Given the description of an element on the screen output the (x, y) to click on. 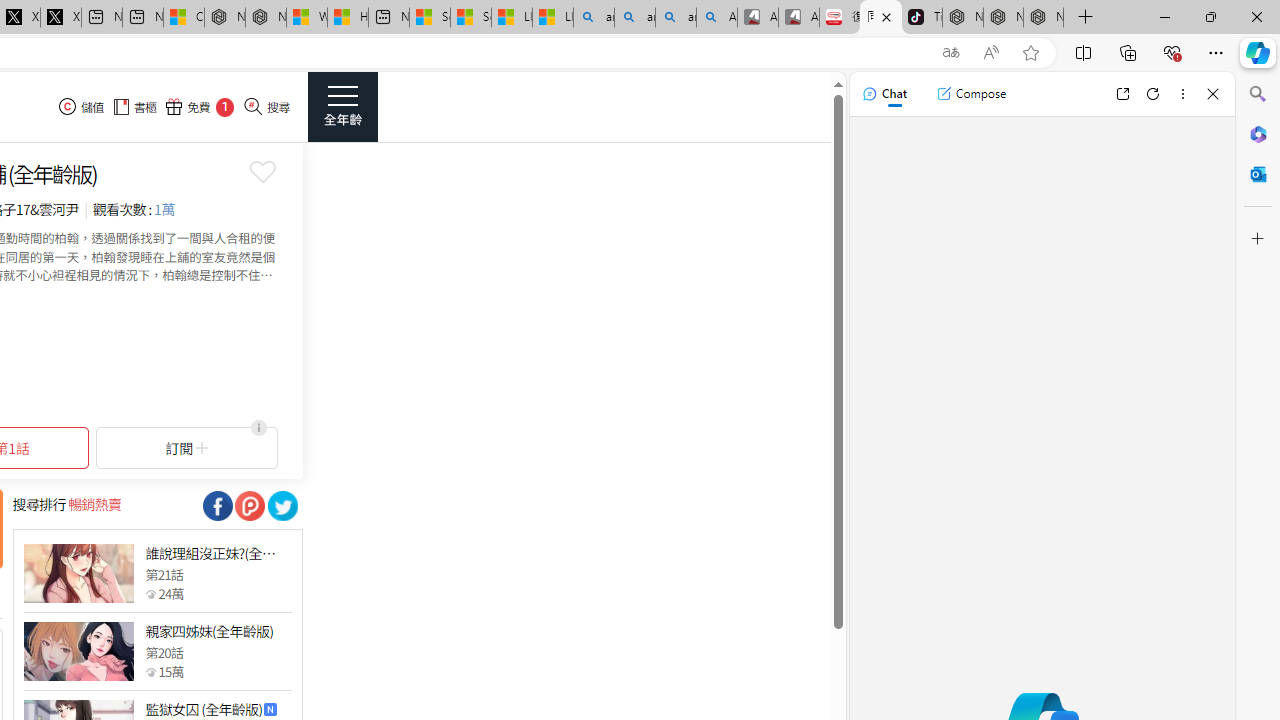
Nordace - Siena Pro 15 Essential Set (1043, 17)
Open link in new tab (1122, 93)
Class: side_menu_btn actionRightMenuBtn (342, 106)
